Given the description of an element on the screen output the (x, y) to click on. 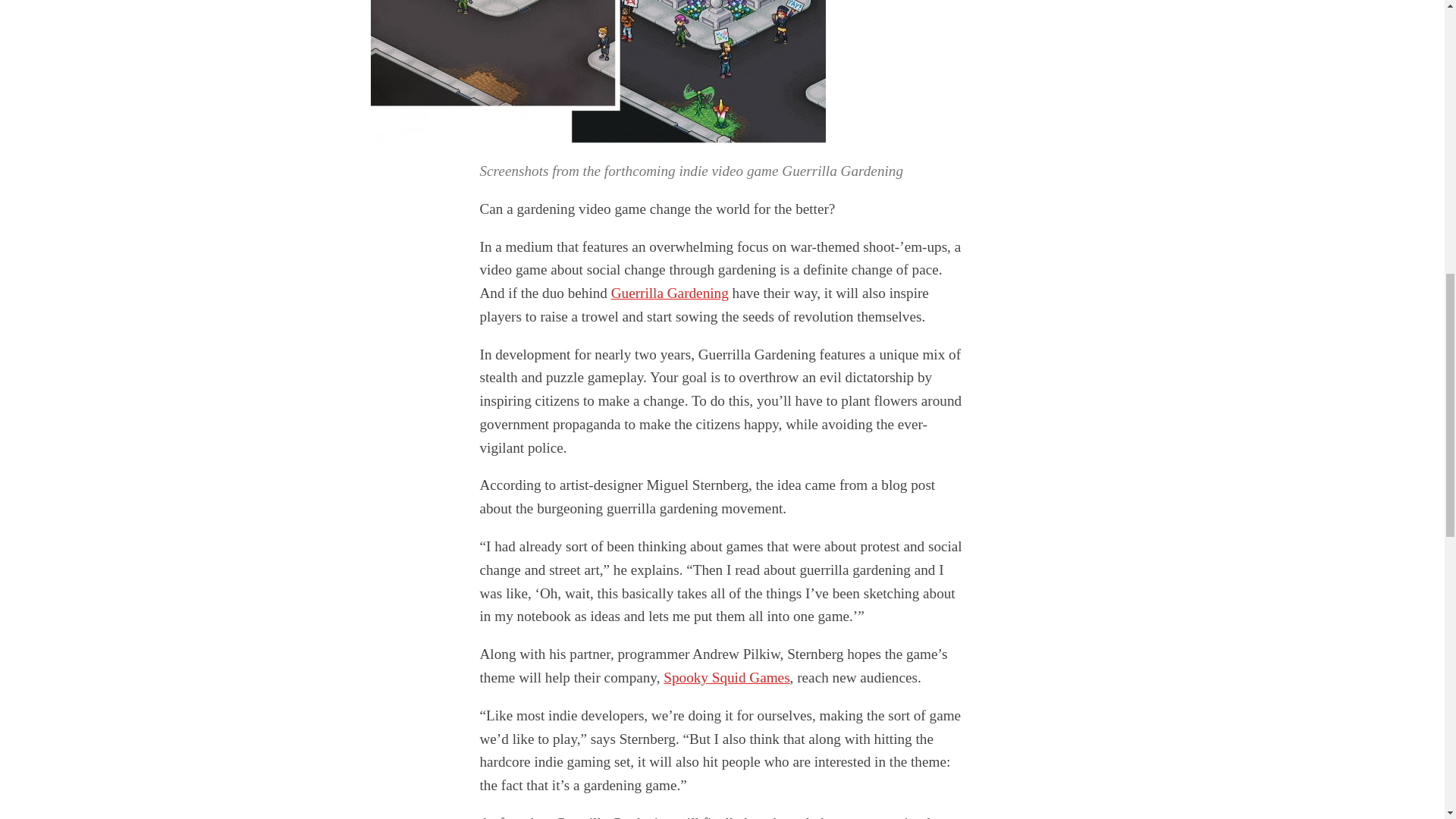
Spooky Squid Games (726, 677)
Visit Spooky Squid Games' website (726, 677)
Visit Guerrilla Gardening's development blog (670, 293)
Guerrilla Gardening (670, 293)
